Given the description of an element on the screen output the (x, y) to click on. 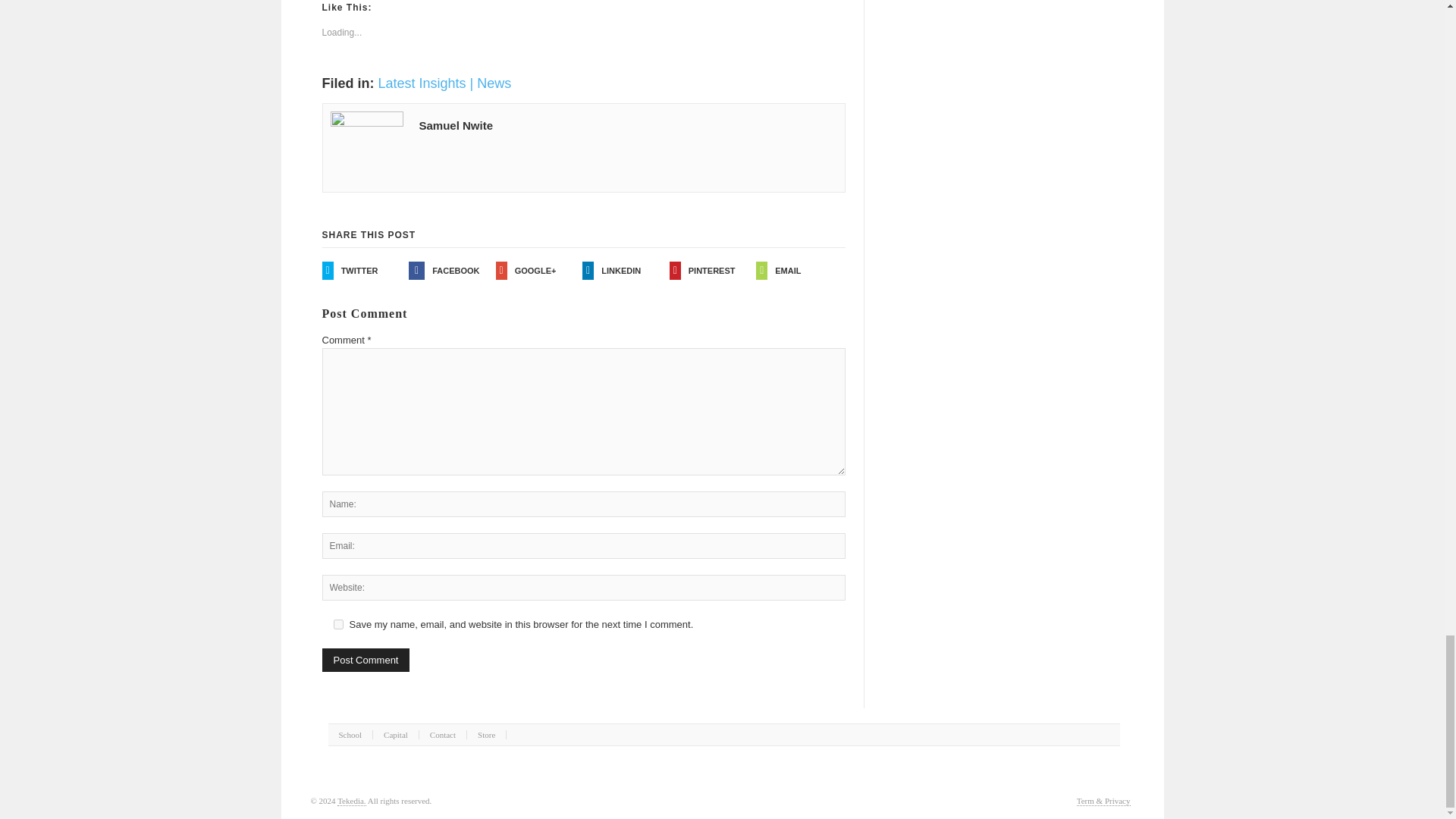
Post Comment (365, 659)
yes (338, 624)
